Given the description of an element on the screen output the (x, y) to click on. 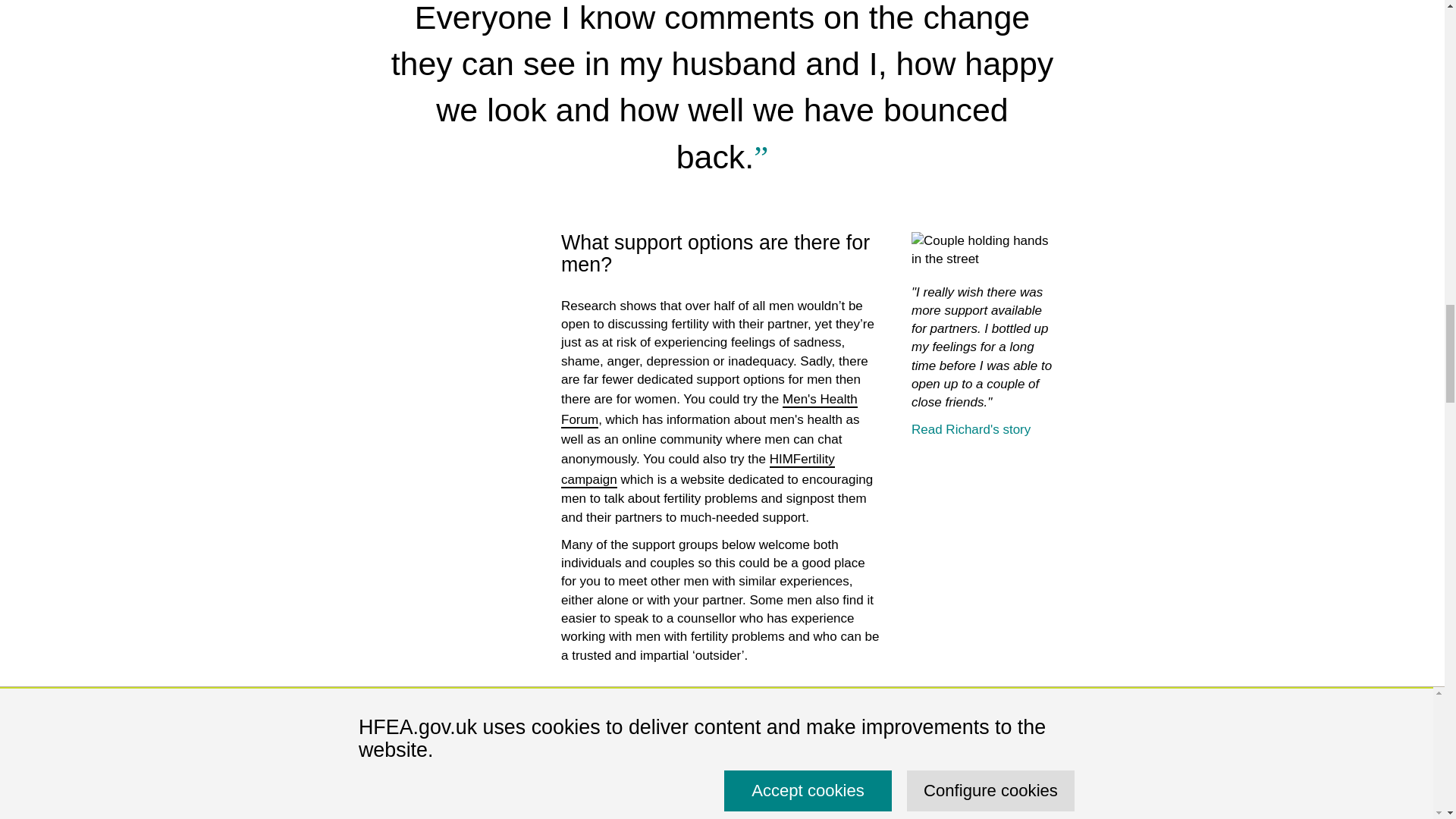
Richard's story (970, 429)
